Given the description of an element on the screen output the (x, y) to click on. 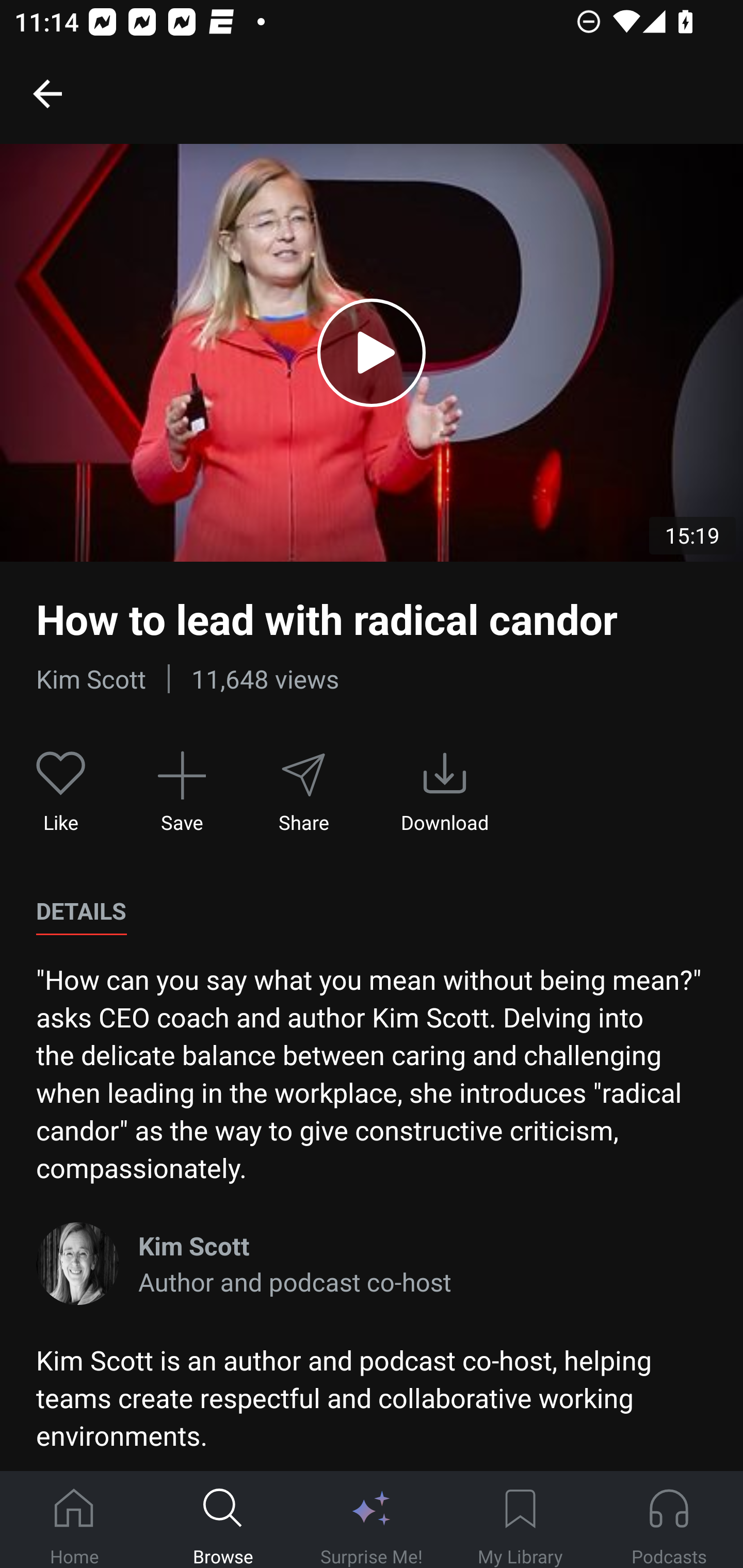
Search, back (47, 92)
Like (60, 793)
Save (181, 793)
Share (302, 793)
Download (444, 793)
DETAILS (80, 911)
Home (74, 1520)
Browse (222, 1520)
Surprise Me! (371, 1520)
My Library (519, 1520)
Podcasts (668, 1520)
